Given the description of an element on the screen output the (x, y) to click on. 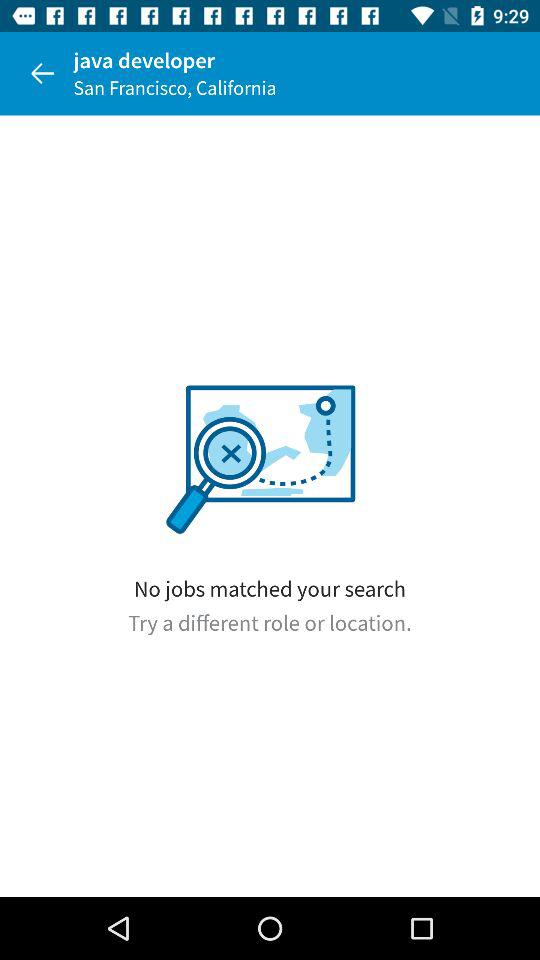
select the item above no jobs matched (41, 73)
